Given the description of an element on the screen output the (x, y) to click on. 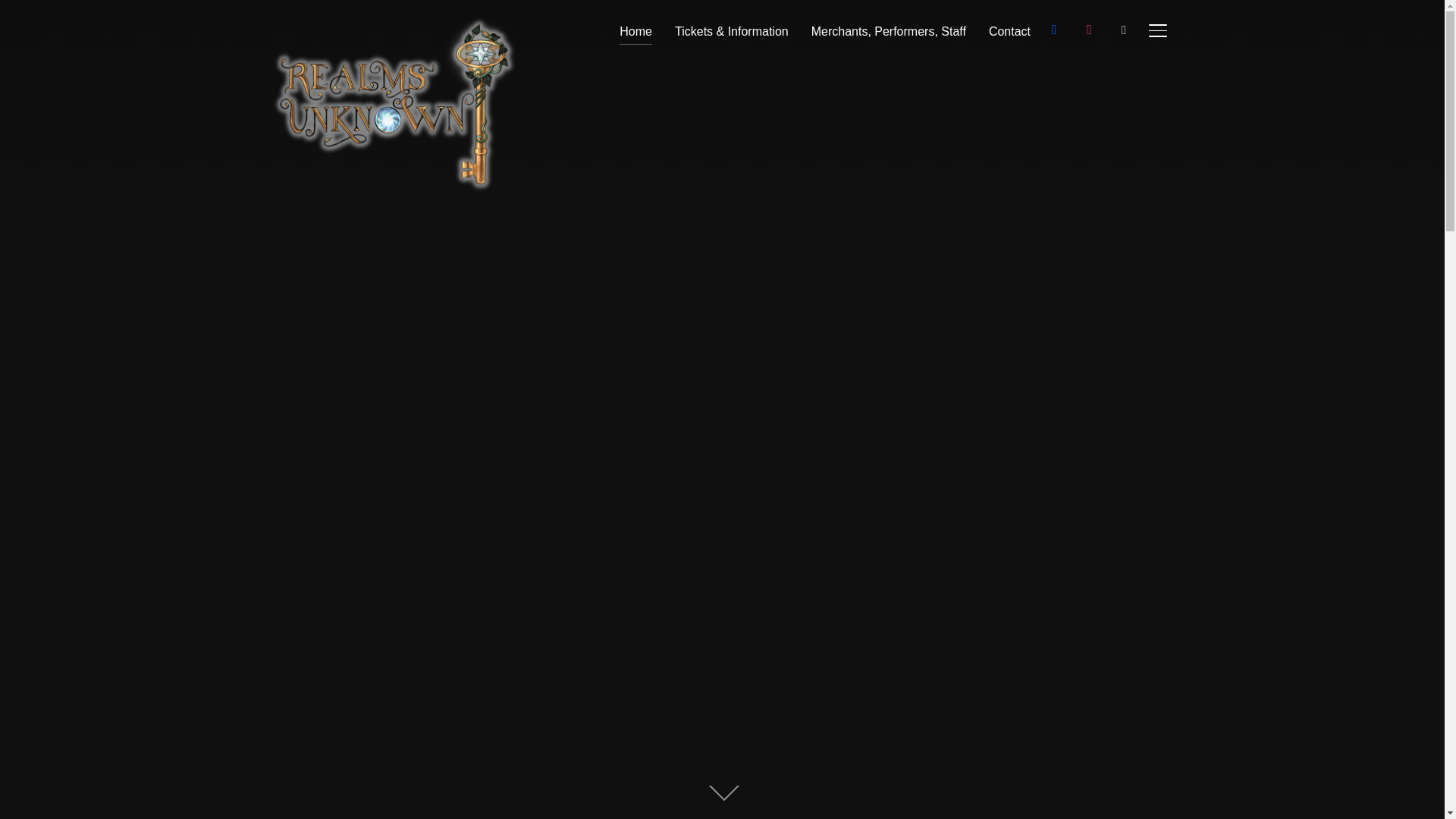
Follow Us on Facebook (1054, 28)
Scroll to Content (727, 794)
Merchants, Performers, Staff (888, 31)
Contact (1009, 31)
Home (636, 31)
Search (15, 15)
